Given the description of an element on the screen output the (x, y) to click on. 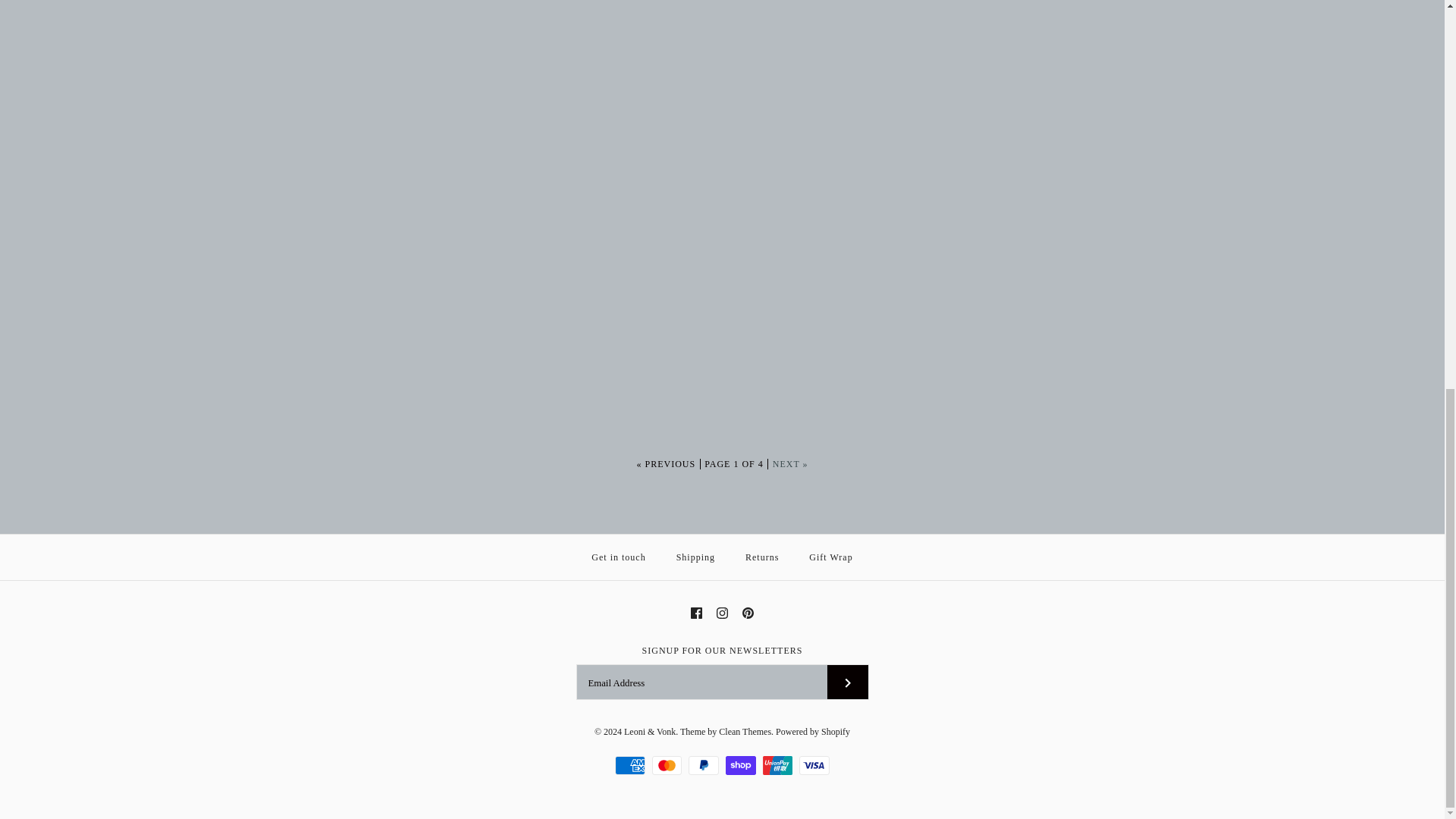
Instagram (722, 613)
RIGHT (847, 683)
Pinterest (748, 613)
Facebook (695, 613)
